Given the description of an element on the screen output the (x, y) to click on. 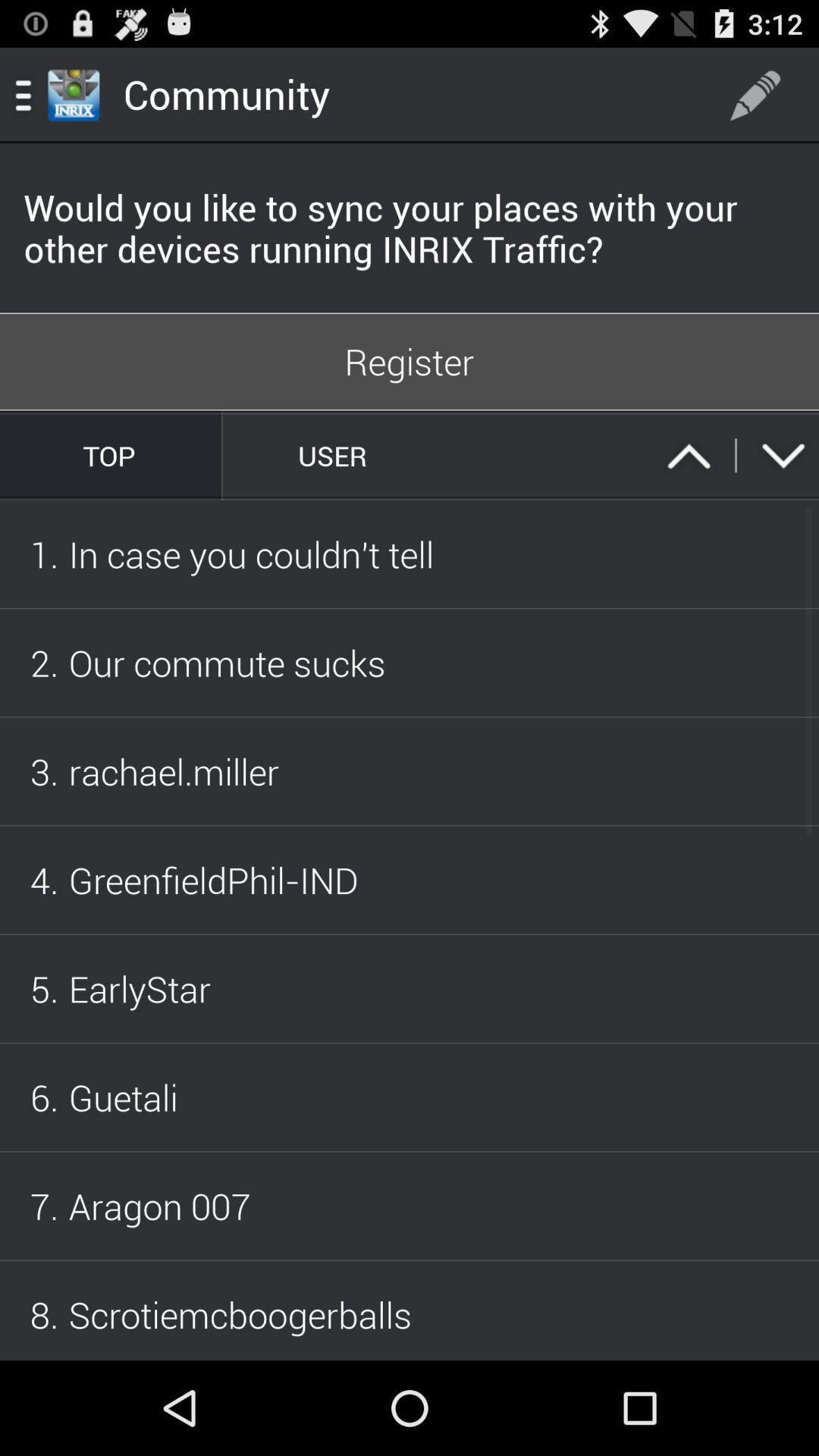
go up (688, 455)
